Given the description of an element on the screen output the (x, y) to click on. 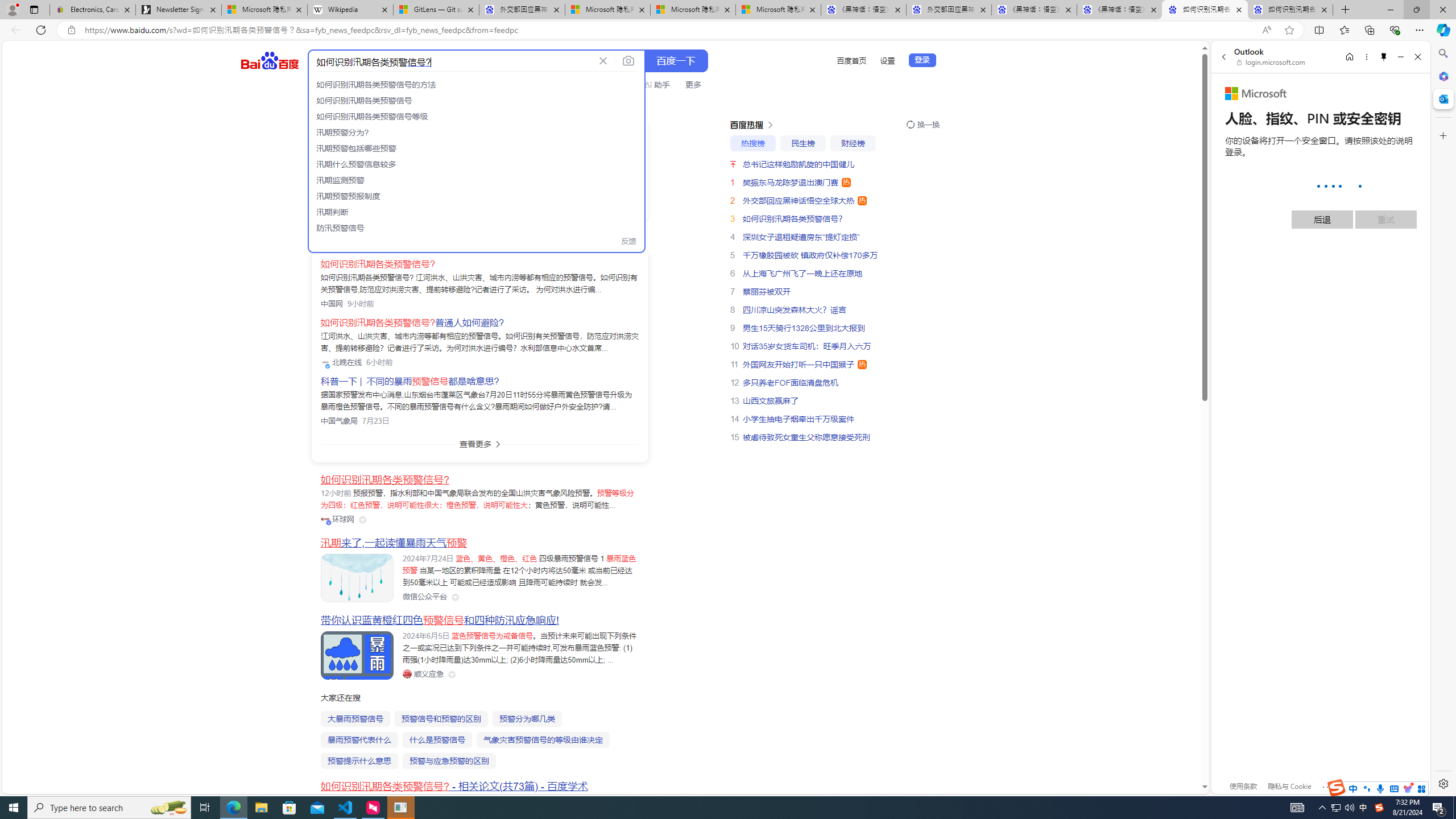
Class: siteLink_9TPP3 (423, 673)
